Given the description of an element on the screen output the (x, y) to click on. 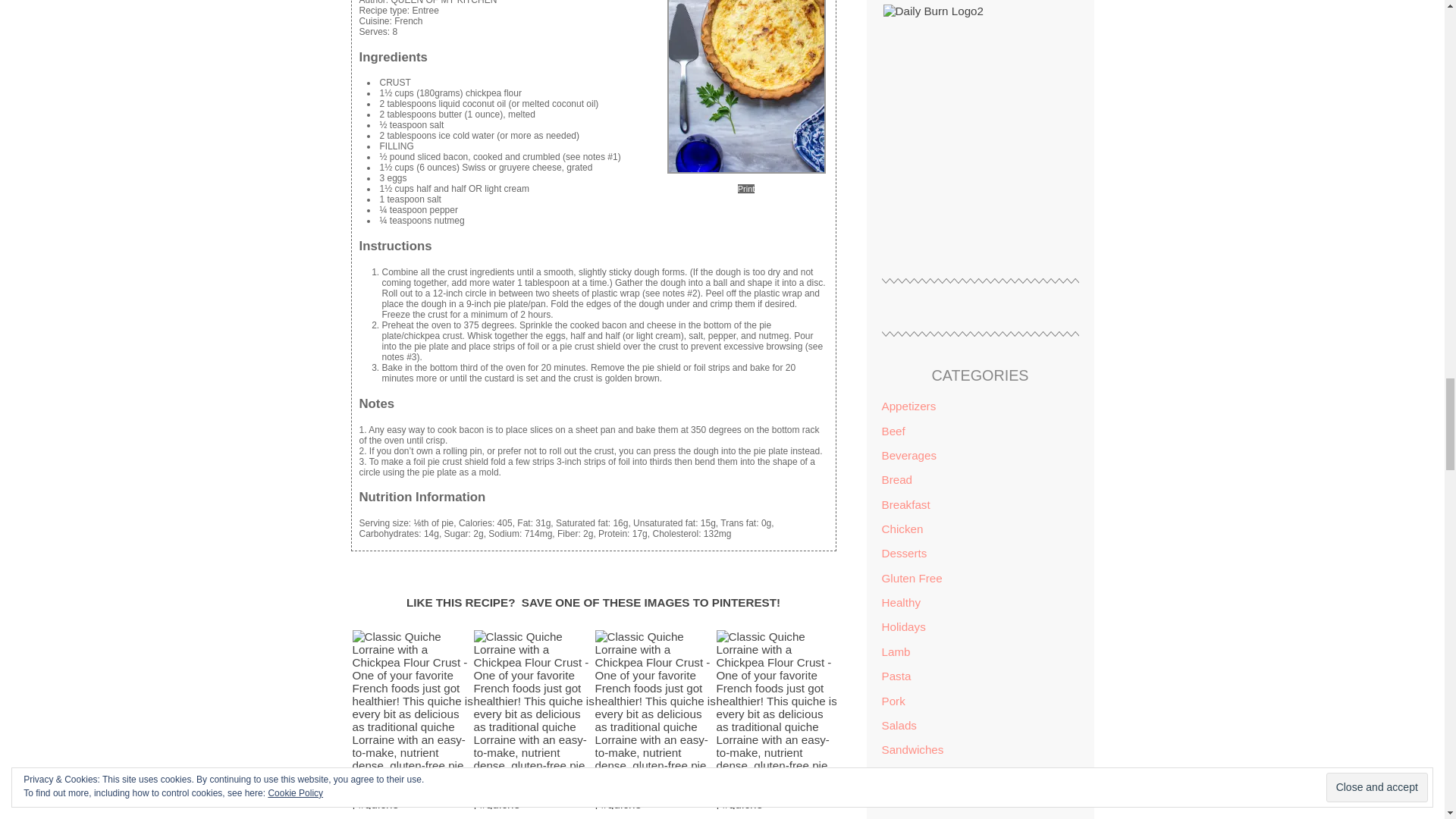
Print (746, 188)
